Given the description of an element on the screen output the (x, y) to click on. 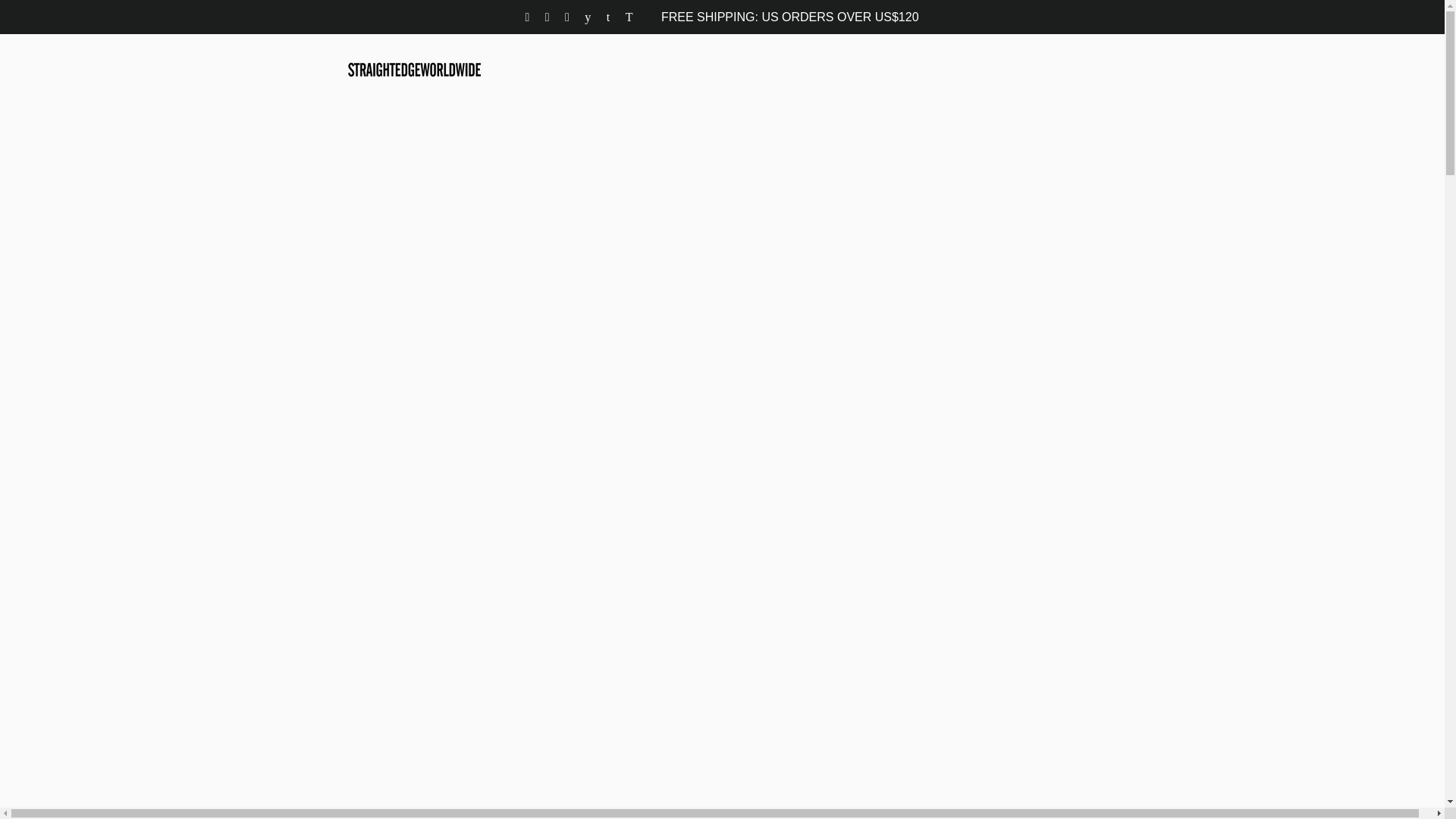
STRAIGHTEDGEWORLDWIDE on Tumblr (609, 16)
STRAIGHTEDGEWORLDWIDE on Twitter (629, 16)
STRAIGHTEDGEWORLDWIDE on Facebook (548, 16)
STRAIGHTEDGEWORLDWIDE on Pinterest (568, 16)
STRAIGHTEDGEWORLDWIDE on Instagram (528, 16)
STRAIGHTEDGEWORLDWIDE on YouTube (589, 16)
